Given the description of an element on the screen output the (x, y) to click on. 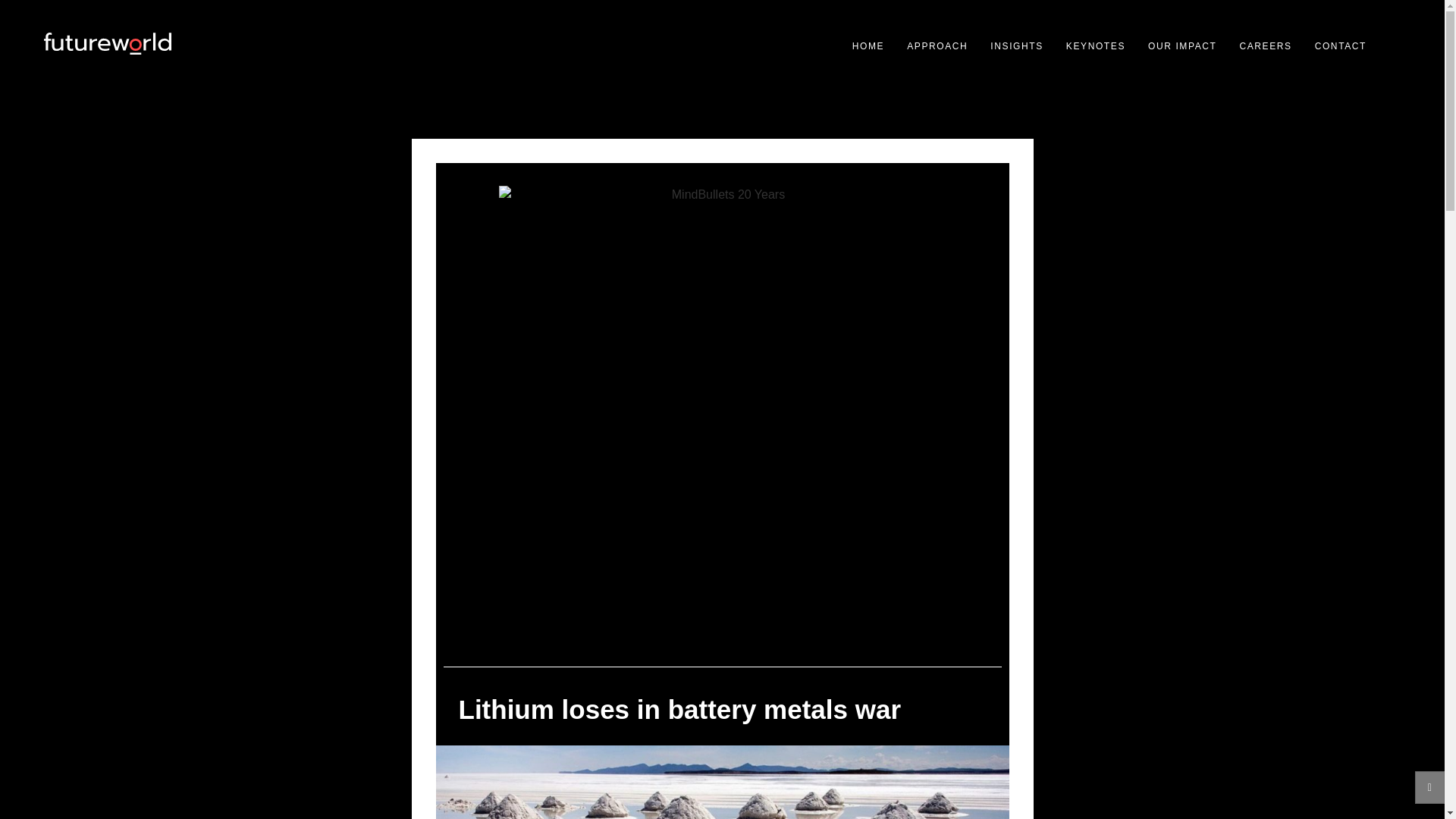
CONTACT (1340, 46)
KEYNOTES (1095, 46)
HOME (867, 46)
APPROACH (937, 46)
INSIGHTS (1016, 46)
CAREERS (1265, 46)
OUR IMPACT (1181, 46)
